Given the description of an element on the screen output the (x, y) to click on. 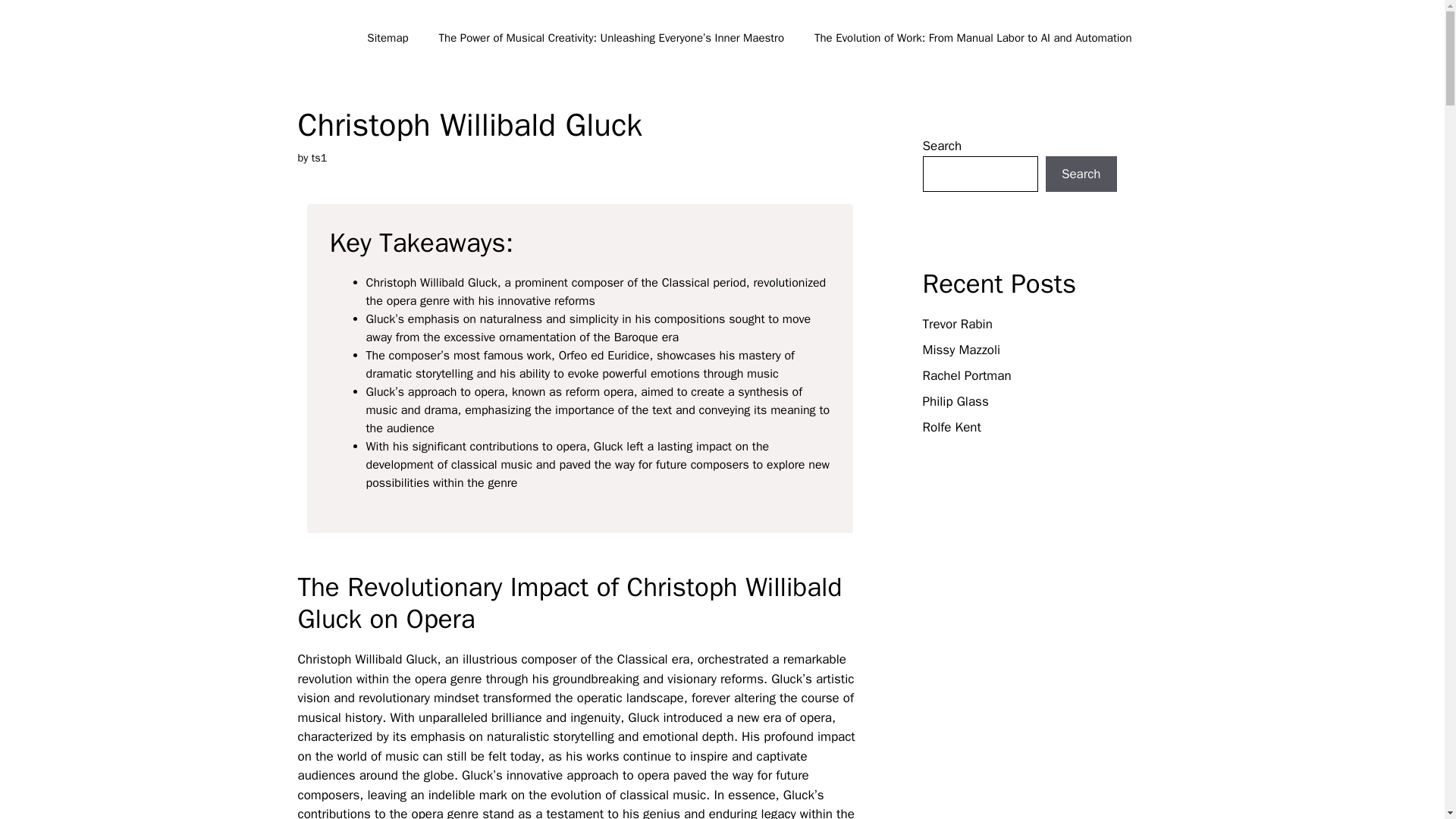
View all posts by ts1 (319, 157)
Sitemap (387, 37)
ts1 (319, 157)
